Given the description of an element on the screen output the (x, y) to click on. 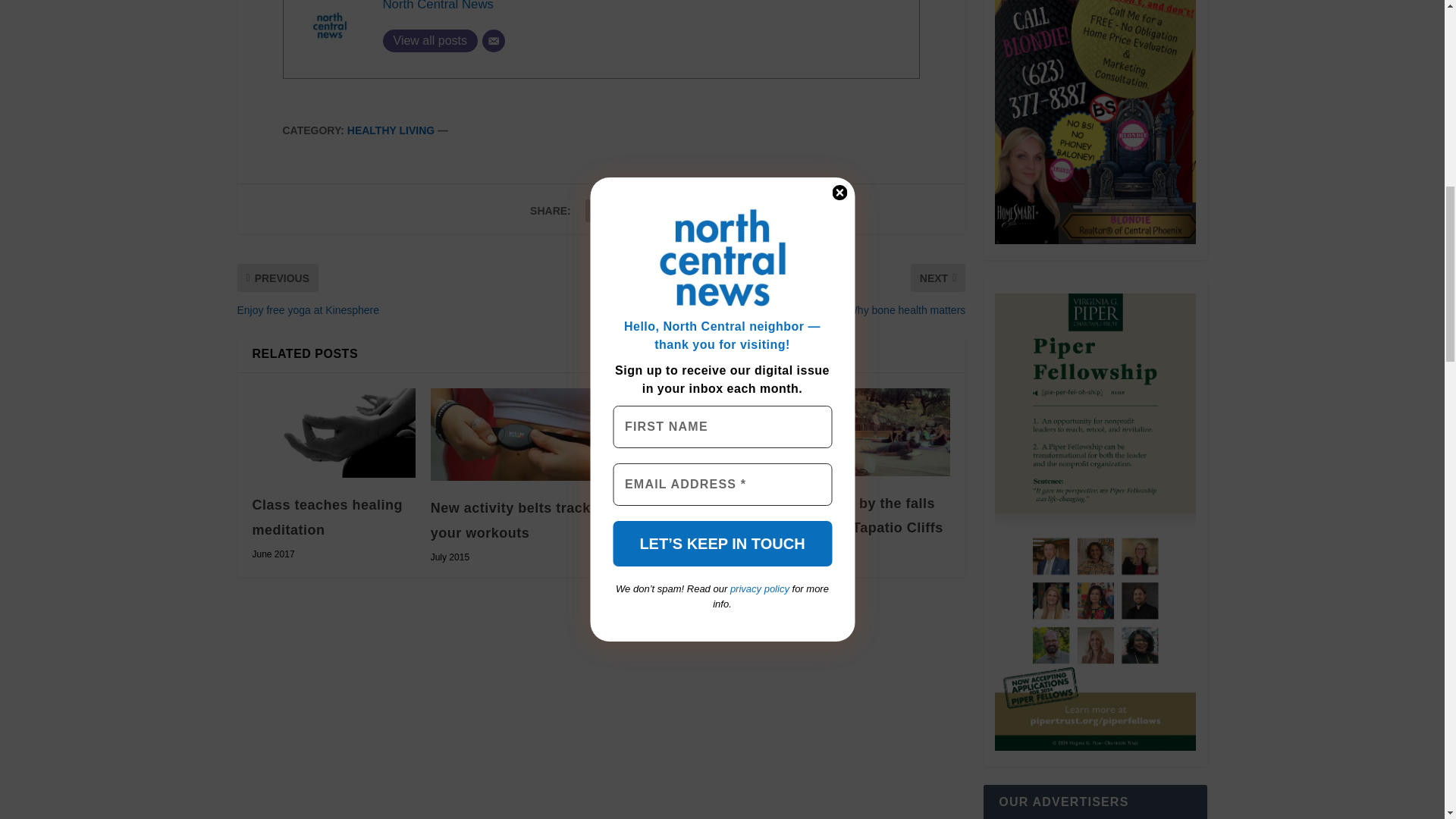
New activity belts track your workouts (512, 434)
Wireless sensor helps manage heart failure (689, 431)
View all posts (429, 40)
Class teaches healing meditation (332, 432)
View all posts in Healthy Living (390, 130)
Free yoga by the falls at Pointe Tapatio Cliffs (868, 431)
North Central News (437, 5)
